Given the description of an element on the screen output the (x, y) to click on. 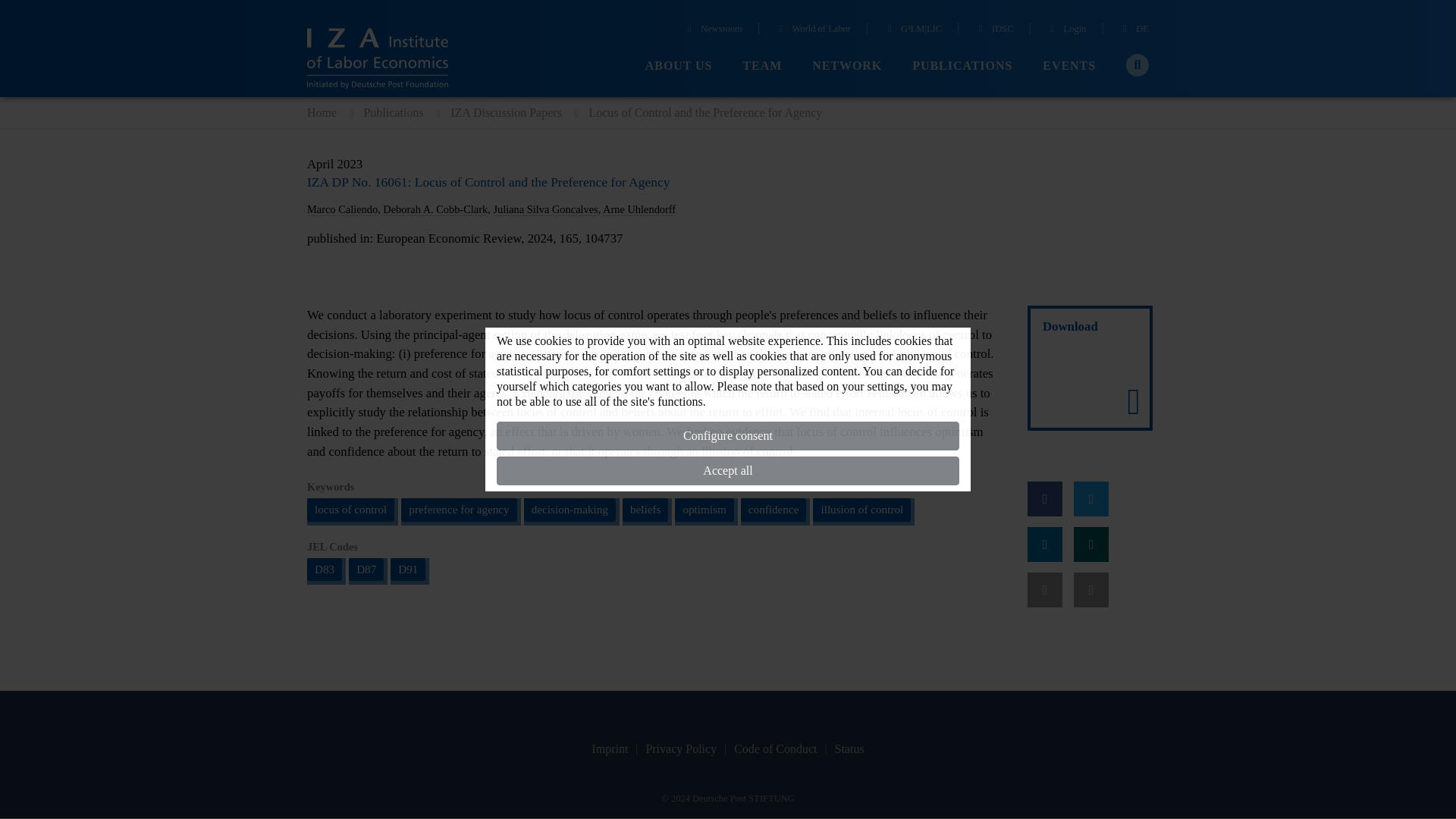
TEAM (761, 66)
EVENTS (1069, 66)
IDSC (993, 30)
DE (1133, 30)
Newsroom (712, 30)
NETWORK (847, 66)
ABOUT US (679, 66)
World of Labor (812, 30)
PUBLICATIONS (961, 66)
Login (1066, 30)
